Given the description of an element on the screen output the (x, y) to click on. 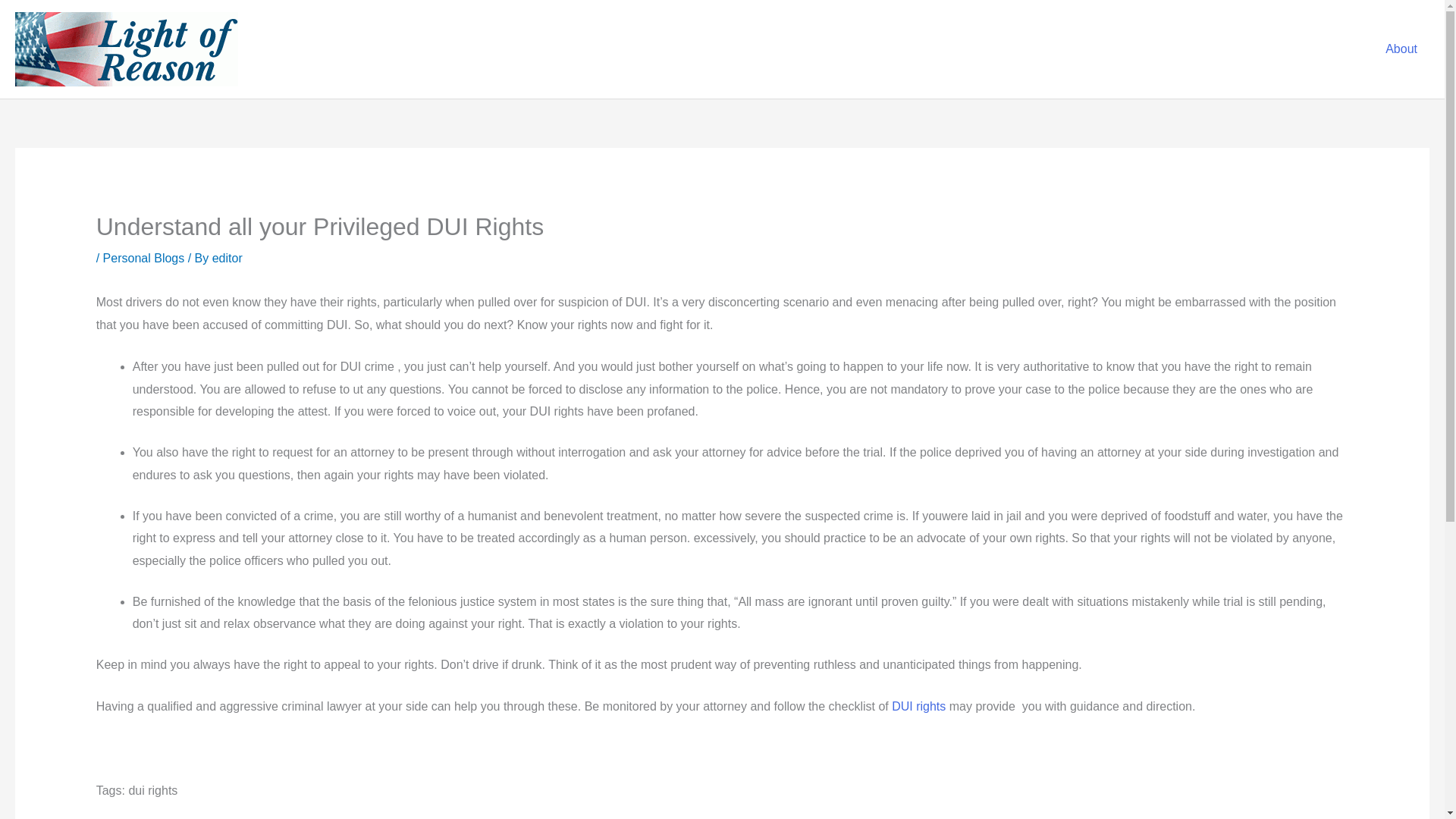
DUI rights (917, 706)
About (1401, 49)
View all posts by editor (227, 257)
editor (227, 257)
Personal Blogs (143, 257)
